Given the description of an element on the screen output the (x, y) to click on. 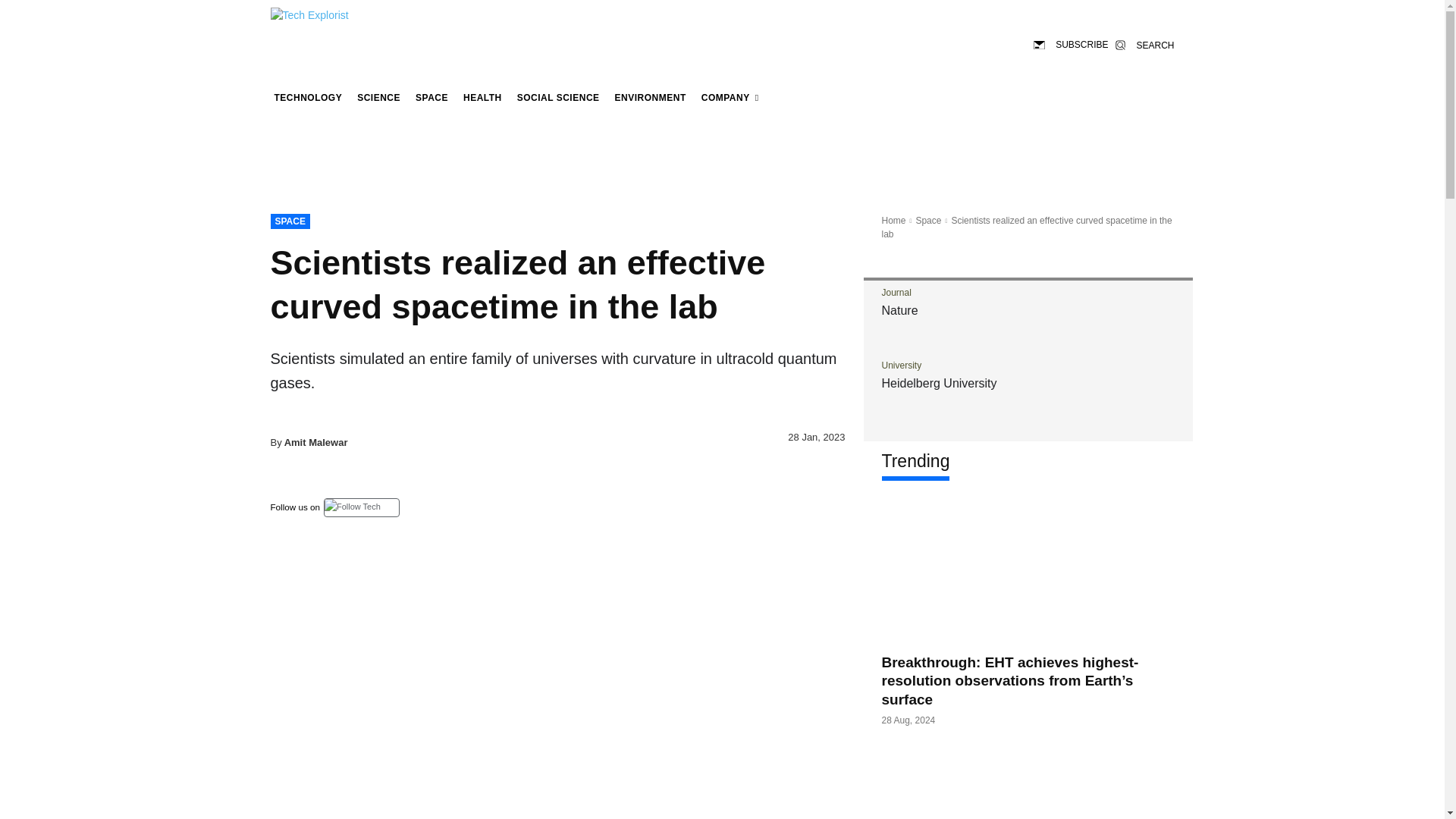
Technology (307, 97)
SUBSCRIBE (1070, 43)
SOCIAL SCIENCE (558, 97)
TECHNOLOGY (307, 97)
SPACE (431, 97)
SEARCH (1144, 44)
Tech Explorist (326, 21)
SEARCH (1144, 44)
SUBSCRIBE (1070, 43)
